Given the description of an element on the screen output the (x, y) to click on. 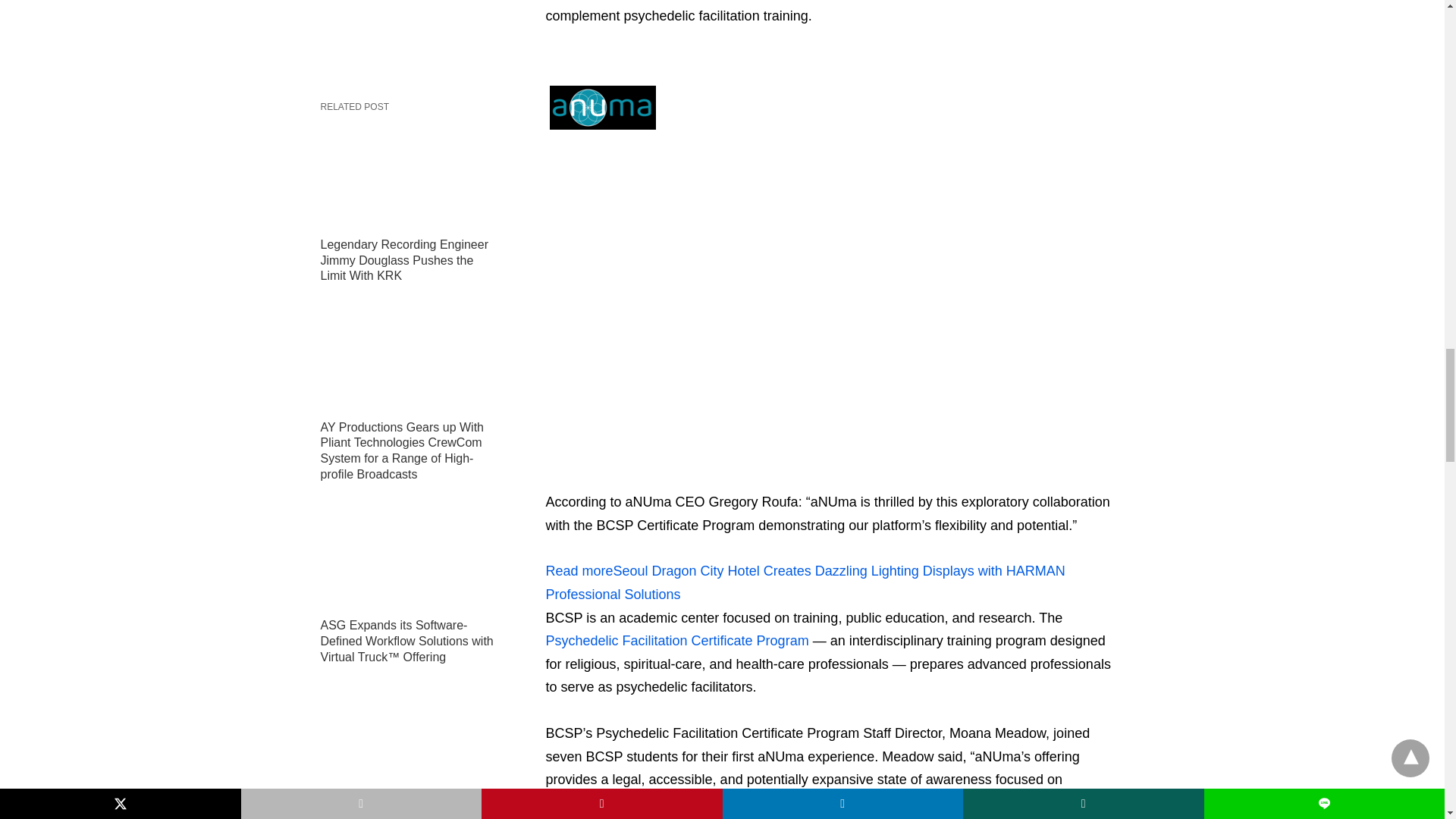
Psychedelic Facilitation Certificate Program (677, 640)
